Given the description of an element on the screen output the (x, y) to click on. 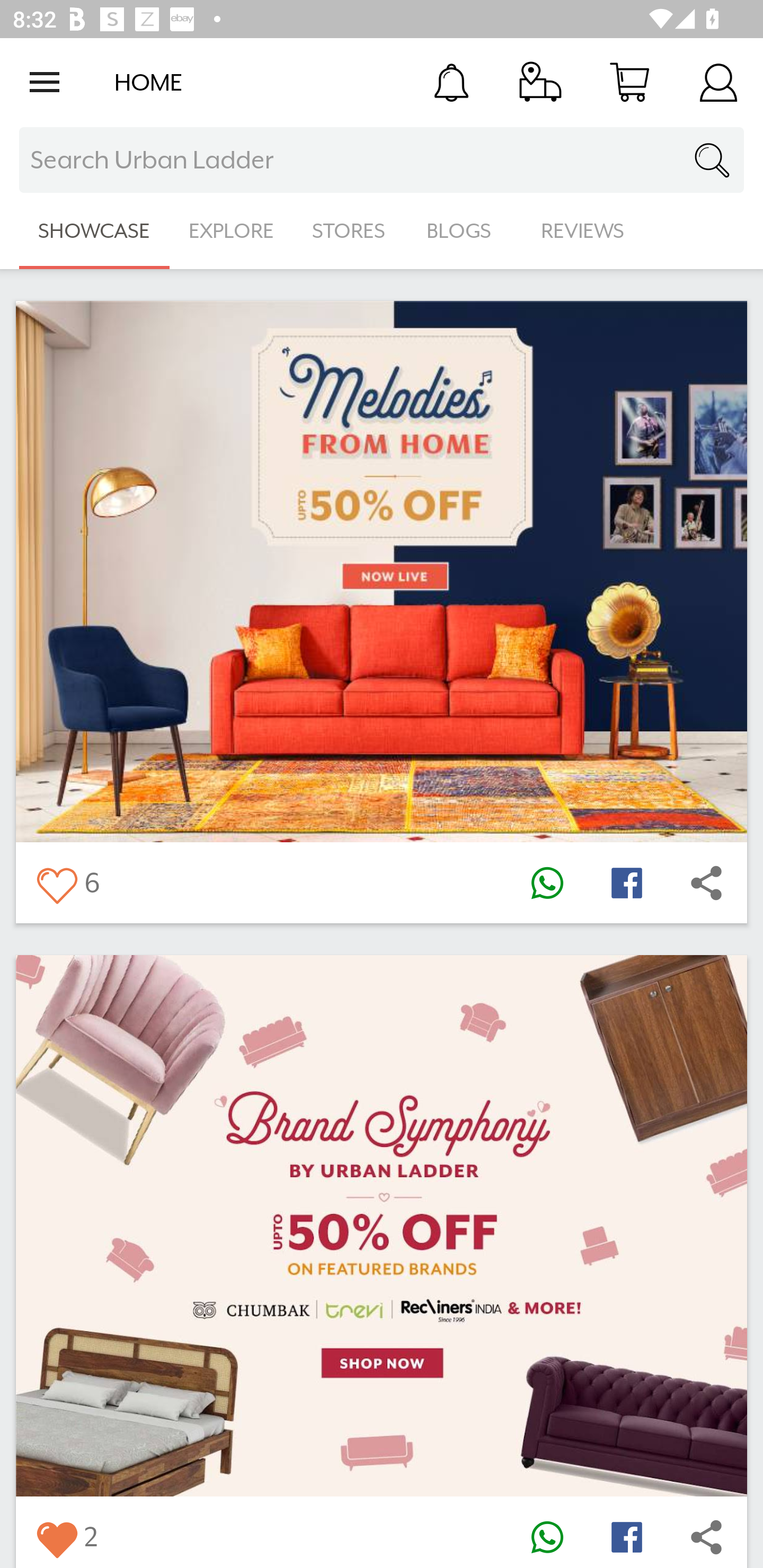
Open navigation drawer (44, 82)
Notification (450, 81)
Track Order (540, 81)
Cart (629, 81)
Account Details (718, 81)
Search Urban Ladder  (381, 159)
SHOWCASE (94, 230)
EXPLORE (230, 230)
STORES (349, 230)
BLOGS (464, 230)
REVIEWS (582, 230)
 (55, 882)
 (547, 882)
 (626, 882)
 (706, 882)
 (55, 1536)
 (547, 1536)
 (626, 1536)
 (706, 1536)
